Given the description of an element on the screen output the (x, y) to click on. 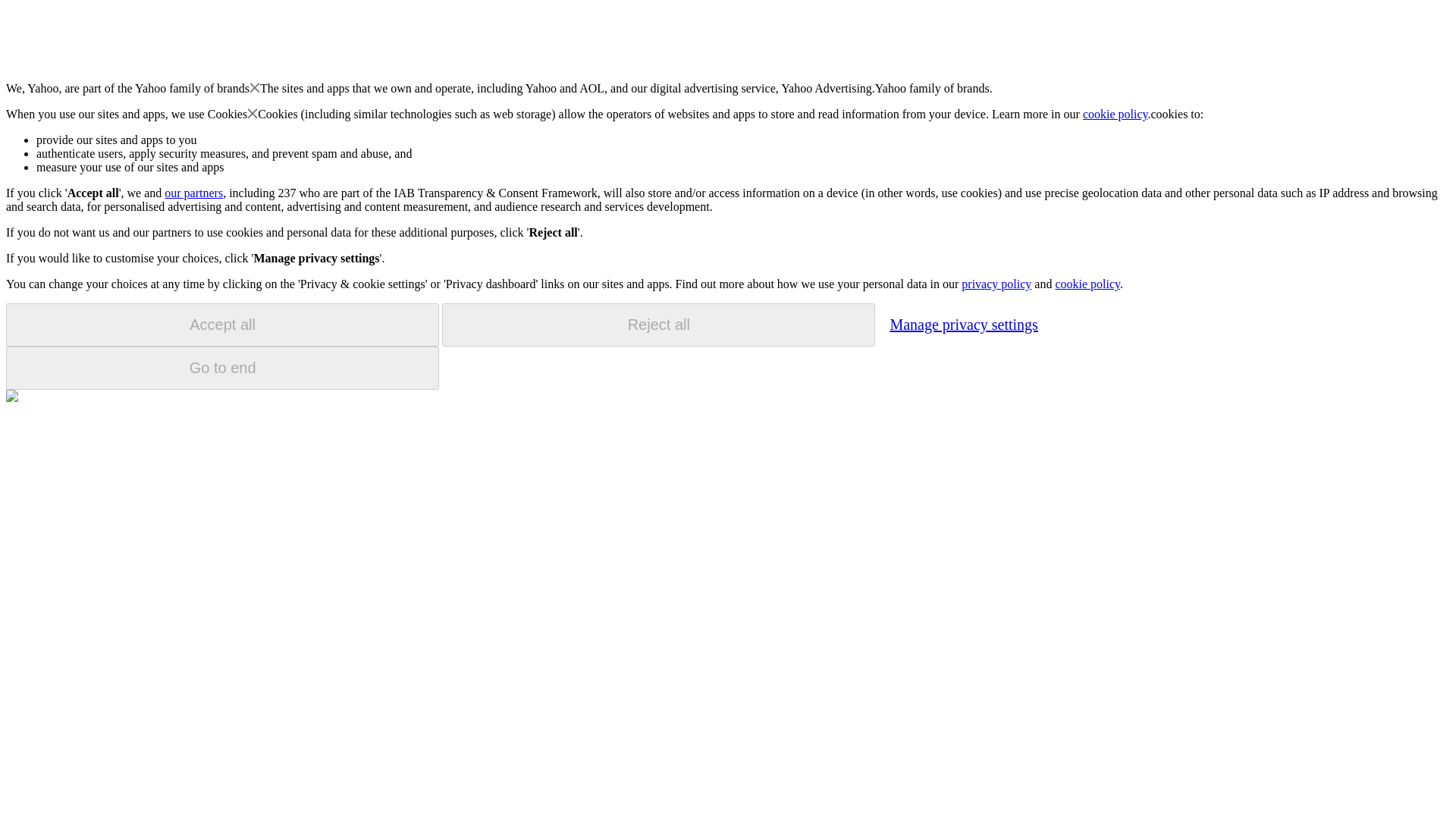
privacy policy (995, 283)
Go to end (222, 367)
Reject all (658, 324)
Manage privacy settings (963, 323)
our partners (193, 192)
cookie policy (1086, 283)
Accept all (222, 324)
cookie policy (1115, 113)
